Given the description of an element on the screen output the (x, y) to click on. 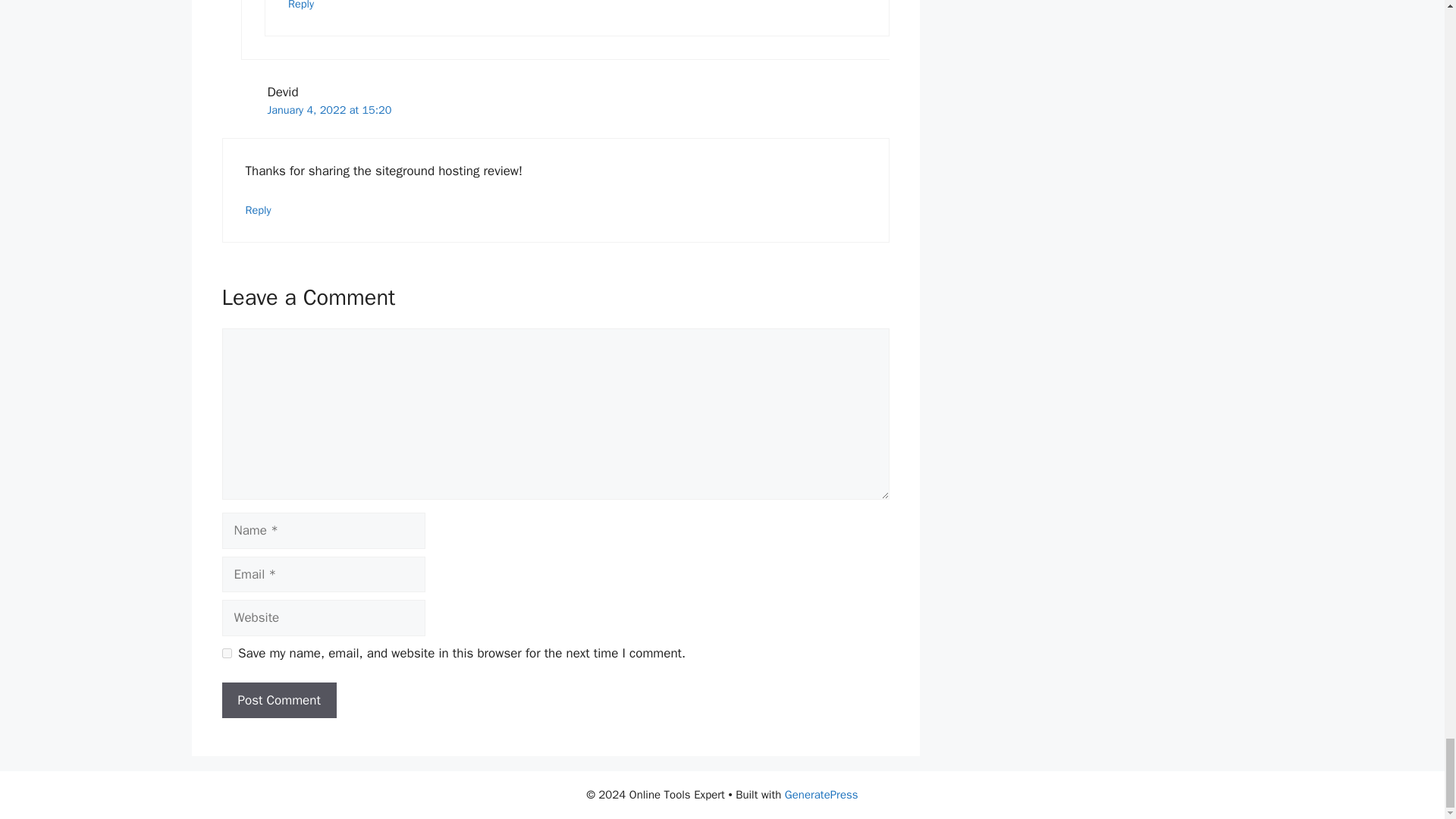
yes (226, 653)
Post Comment (278, 700)
